Given the description of an element on the screen output the (x, y) to click on. 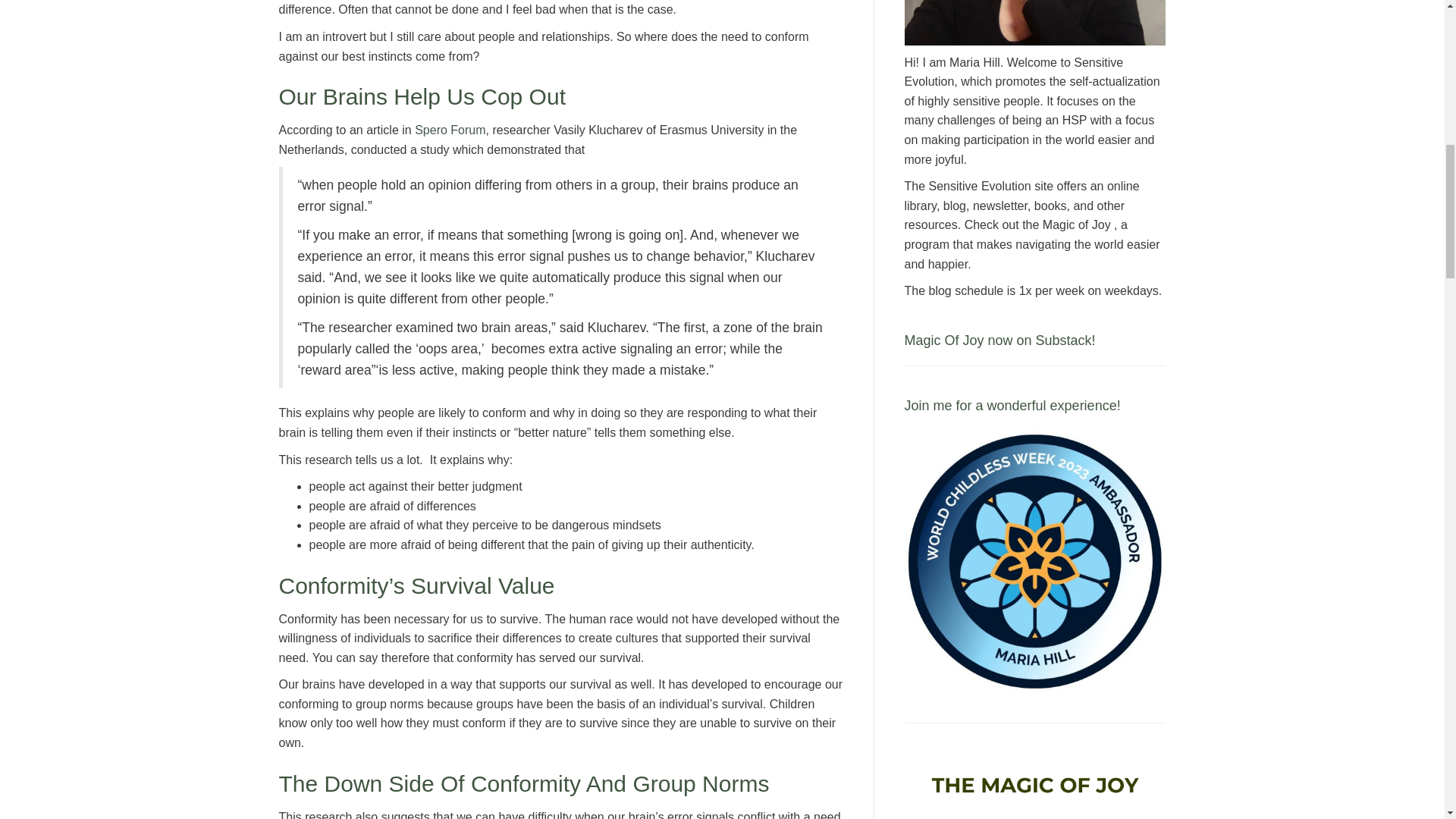
Maria Hill (1035, 22)
Spero Forum (449, 129)
